Given the description of an element on the screen output the (x, y) to click on. 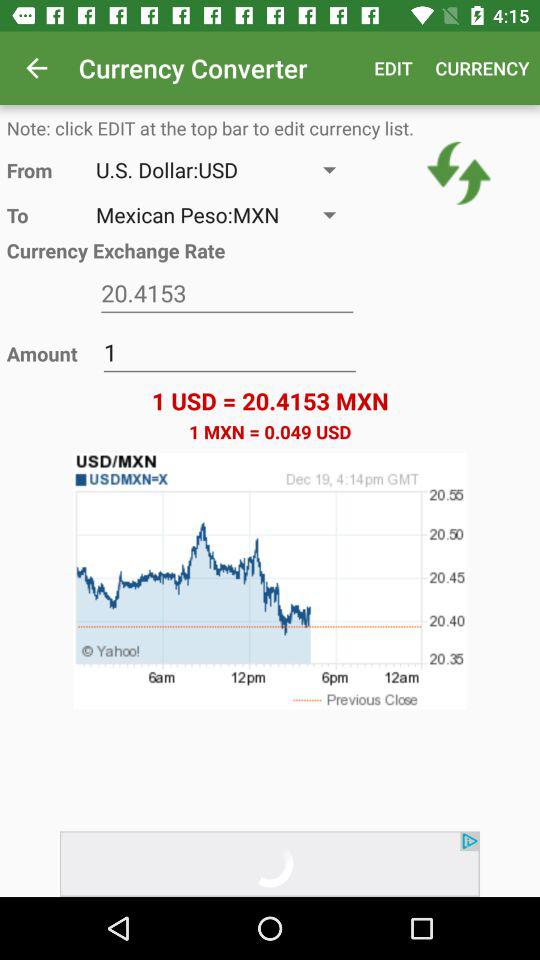
tap icon to the right of note click edit icon (458, 173)
